Given the description of an element on the screen output the (x, y) to click on. 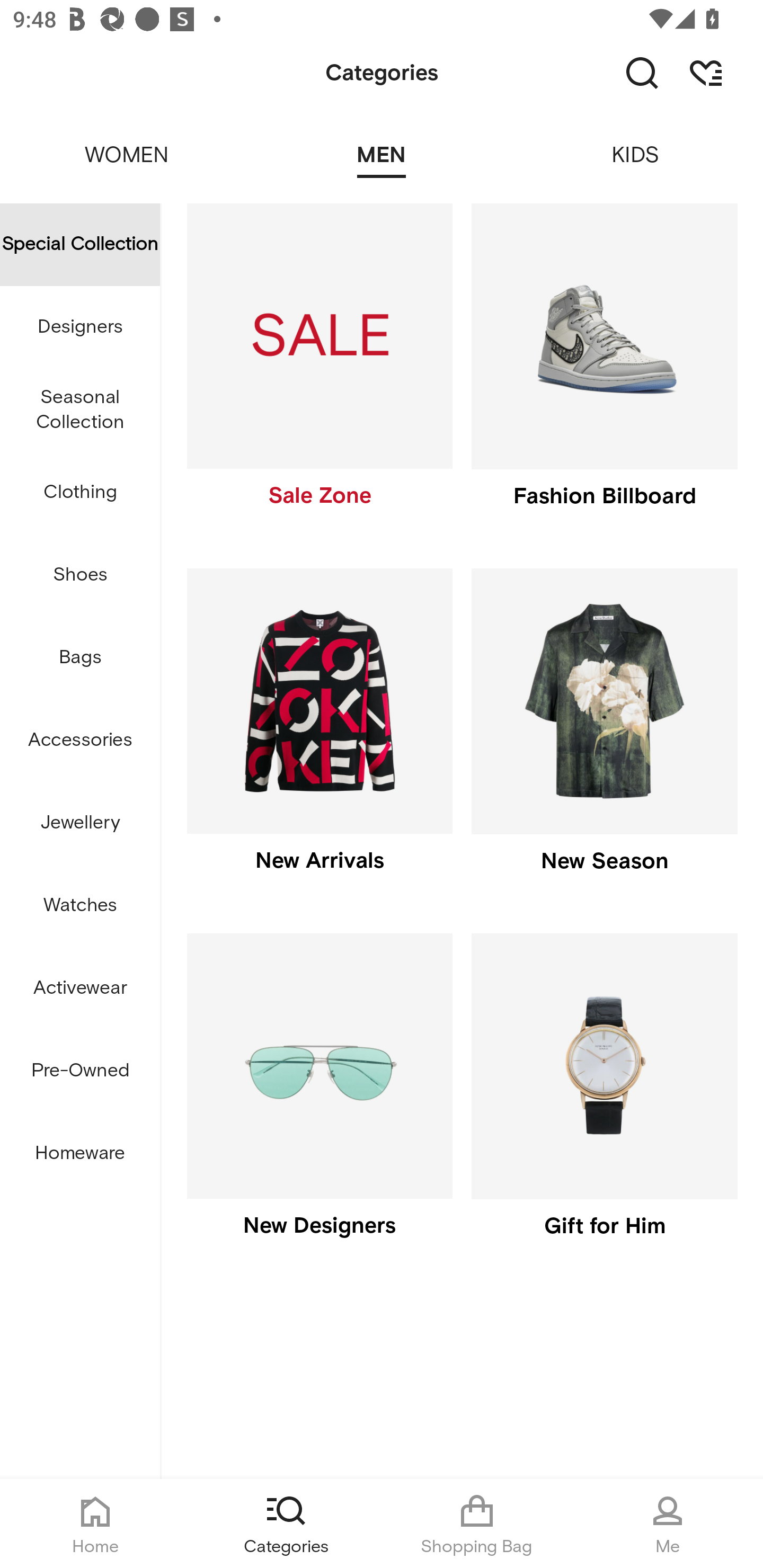
WOMEN (127, 143)
KIDS (635, 143)
Special Collection (80, 244)
Sale Zone (319, 369)
Fashion Billboard (604, 369)
Designers (80, 326)
Seasonal Collection (80, 409)
Clothing (80, 492)
Shoes (80, 575)
New Arrivals (319, 734)
New Season (604, 734)
Bags (80, 657)
Accessories (80, 740)
Jewellery (80, 822)
Watches (80, 905)
New Designers (319, 1099)
Gift for Him (604, 1099)
Activewear (80, 988)
Pre-Owned (80, 1070)
Homeware (80, 1152)
Home (95, 1523)
Shopping Bag (476, 1523)
Me (667, 1523)
